Given the description of an element on the screen output the (x, y) to click on. 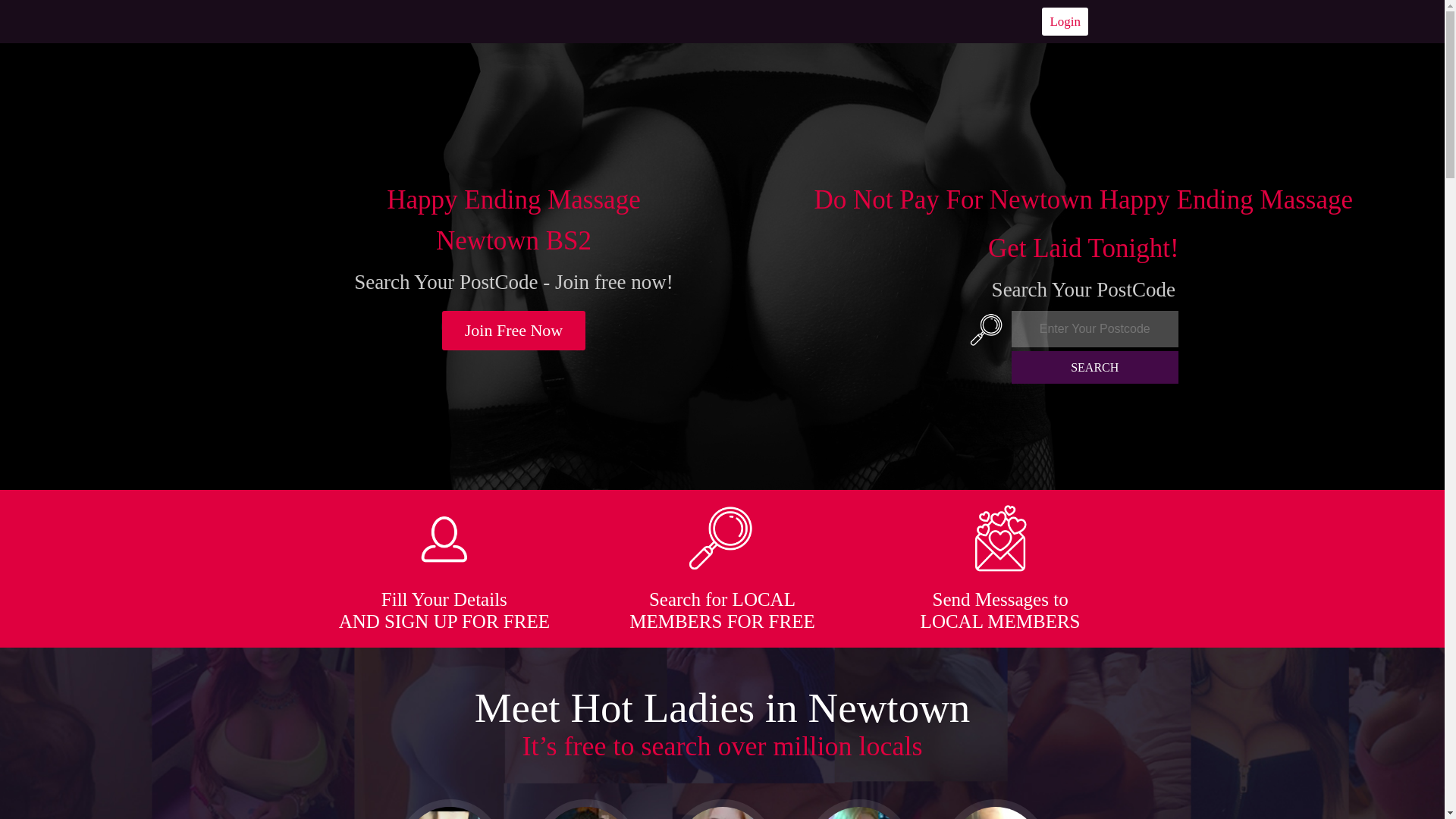
Login (1064, 21)
SEARCH (1094, 367)
Join Free Now (514, 330)
Login (1064, 21)
Join (514, 330)
